Given the description of an element on the screen output the (x, y) to click on. 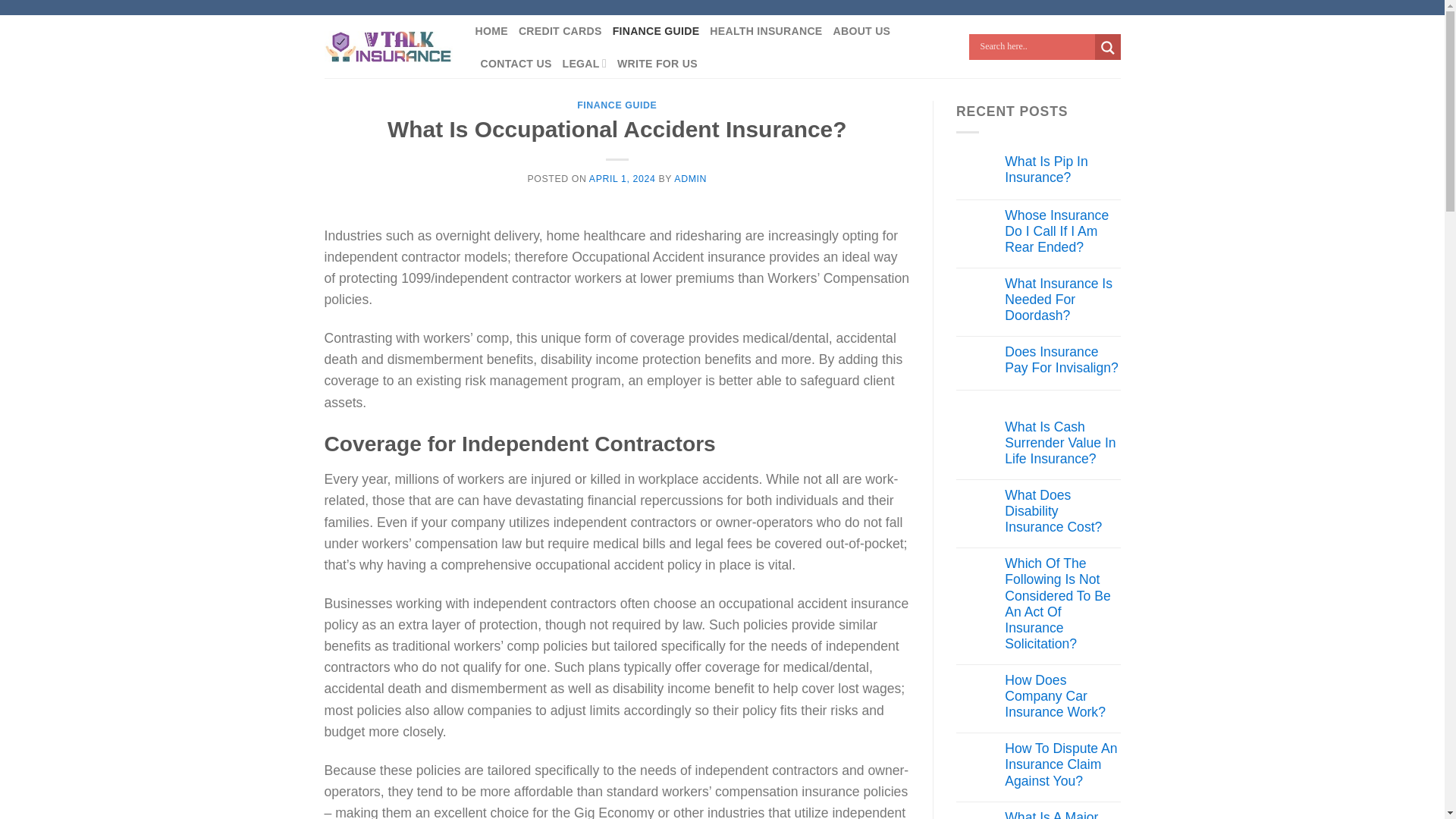
CONTACT US (515, 63)
Whose Insurance Do I Call If I Am Rear Ended? (1061, 231)
What Does Disability Insurance Cost? (1061, 511)
CREDIT CARDS (560, 31)
What Does Disability Insurance Cost? (1061, 511)
What Is Cash Surrender Value In Life Insurance? (1061, 442)
HEALTH INSURANCE (766, 31)
Does Insurance Pay For Invisalign? (1061, 359)
VtalkInsurance - A Finance Blog (388, 46)
How Does Company Car Insurance Work? (1061, 696)
LEGAL (584, 63)
WRITE FOR US (657, 63)
What Is Cash Surrender Value In Life Insurance? (1061, 442)
What Insurance Is Needed For Doordash? (1061, 299)
FINANCE GUIDE (616, 104)
